Given the description of an element on the screen output the (x, y) to click on. 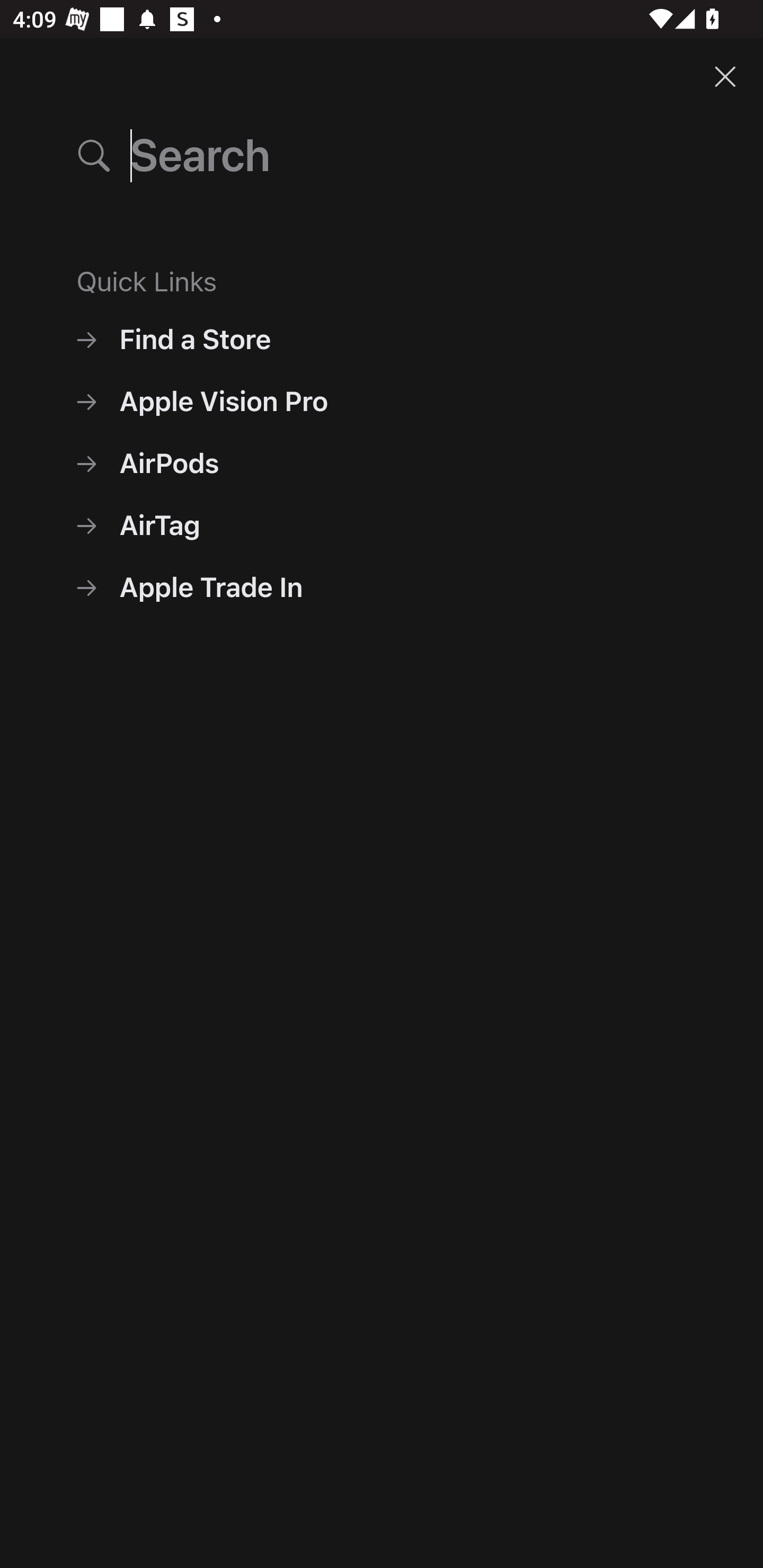
Close (724, 75)
Find a Store (381, 339)
Apple Vision Pro (381, 401)
AirPods (381, 463)
AirTag (381, 524)
Apple Trade In (381, 587)
